Given the description of an element on the screen output the (x, y) to click on. 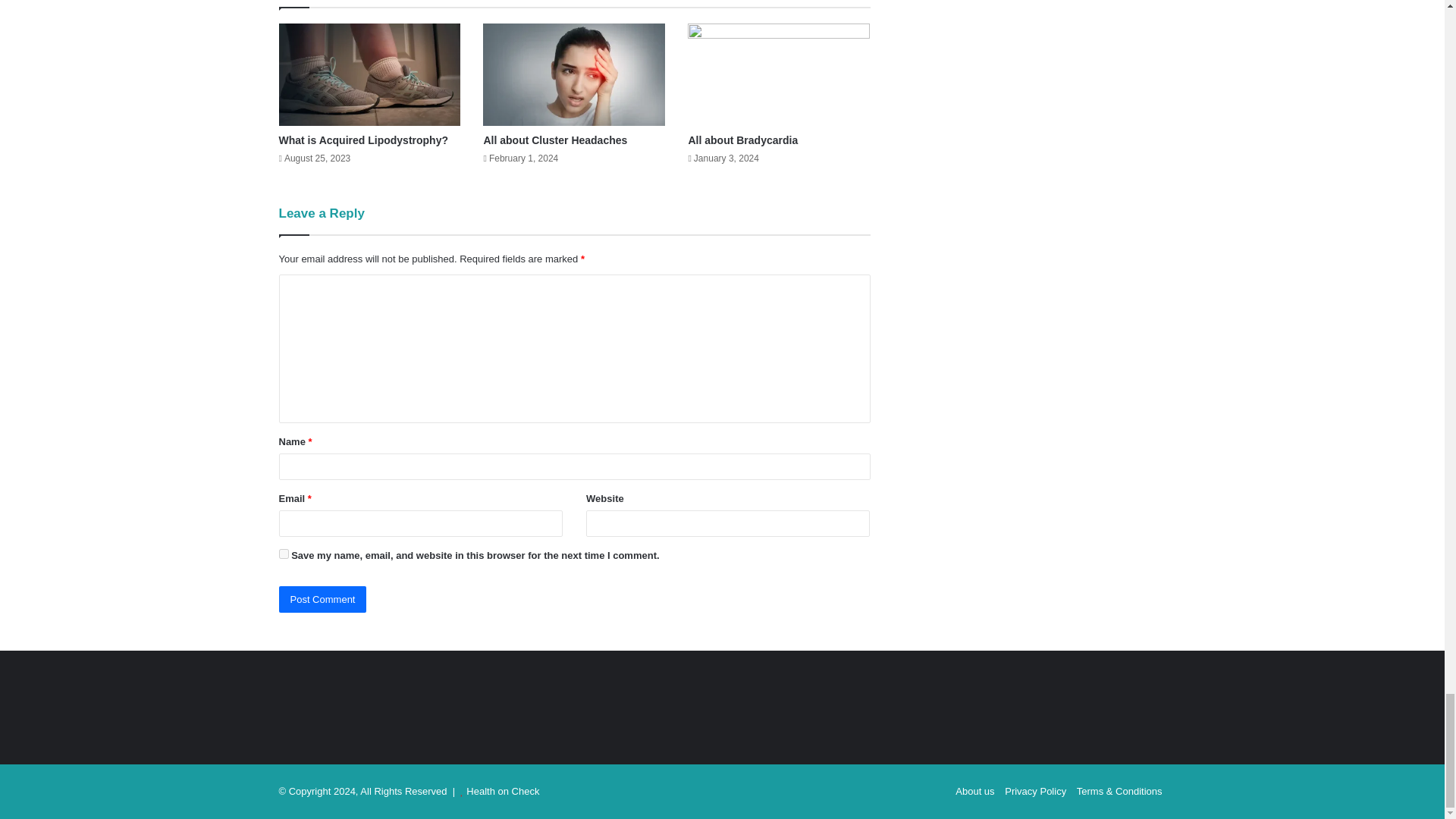
All about Bradycardia (742, 140)
yes (283, 553)
All about Cluster Headaches (555, 140)
Post Comment (322, 599)
What is Acquired Lipodystrophy? (363, 140)
Post Comment (322, 599)
